Given the description of an element on the screen output the (x, y) to click on. 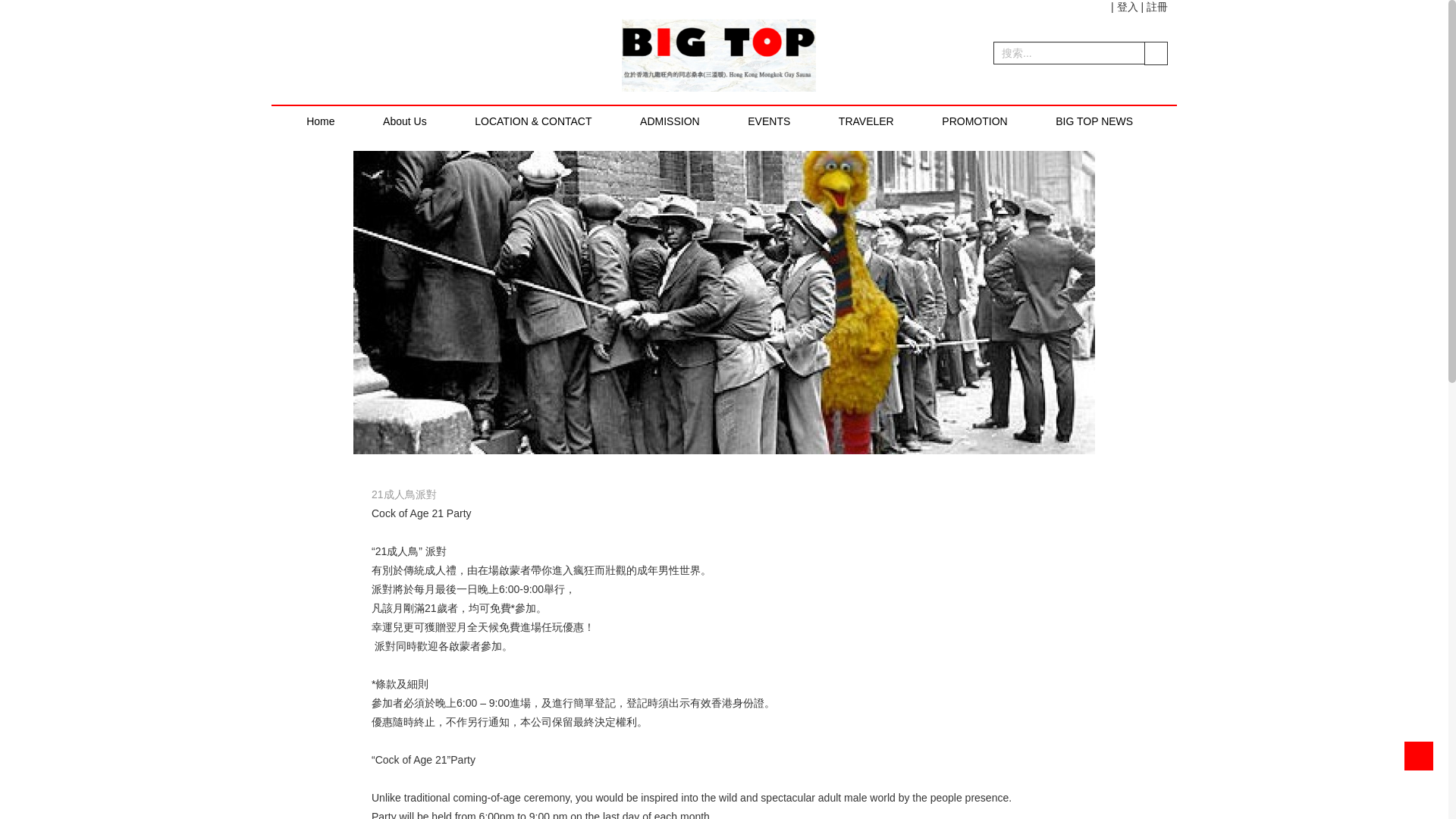
About Us (405, 122)
TRAVELER (866, 122)
ADMISSION (669, 122)
PROMOTION (974, 122)
BIG TOP NEWS (1093, 122)
Home (320, 122)
EVENTS (768, 122)
Big Top Hong Kong Limited (721, 55)
